Given the description of an element on the screen output the (x, y) to click on. 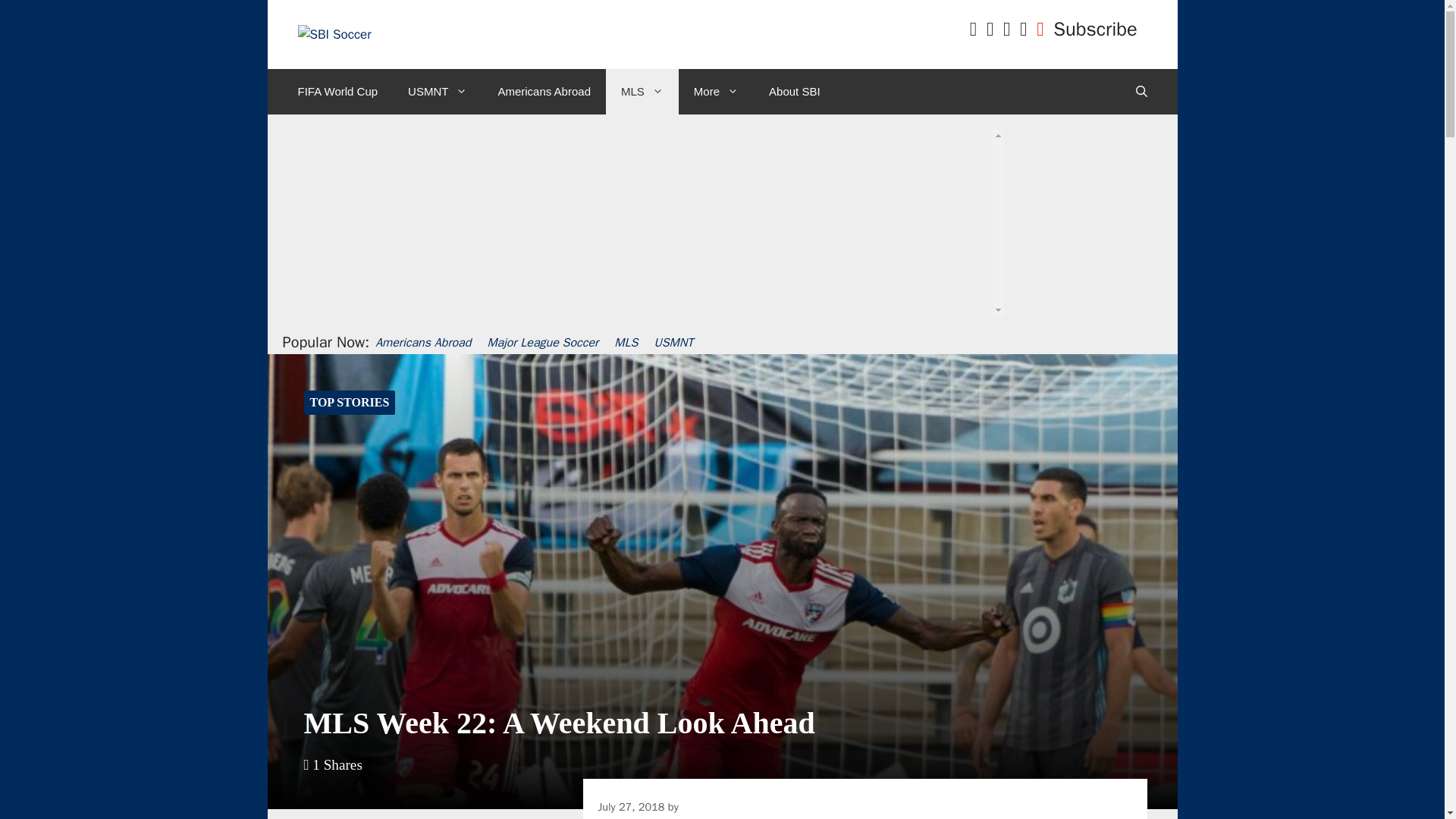
MLS (641, 91)
Americans Abroad (543, 91)
USMNT (437, 91)
Subscribe (1094, 28)
FIFA World Cup (337, 91)
Advertisement (716, 256)
